Given the description of an element on the screen output the (x, y) to click on. 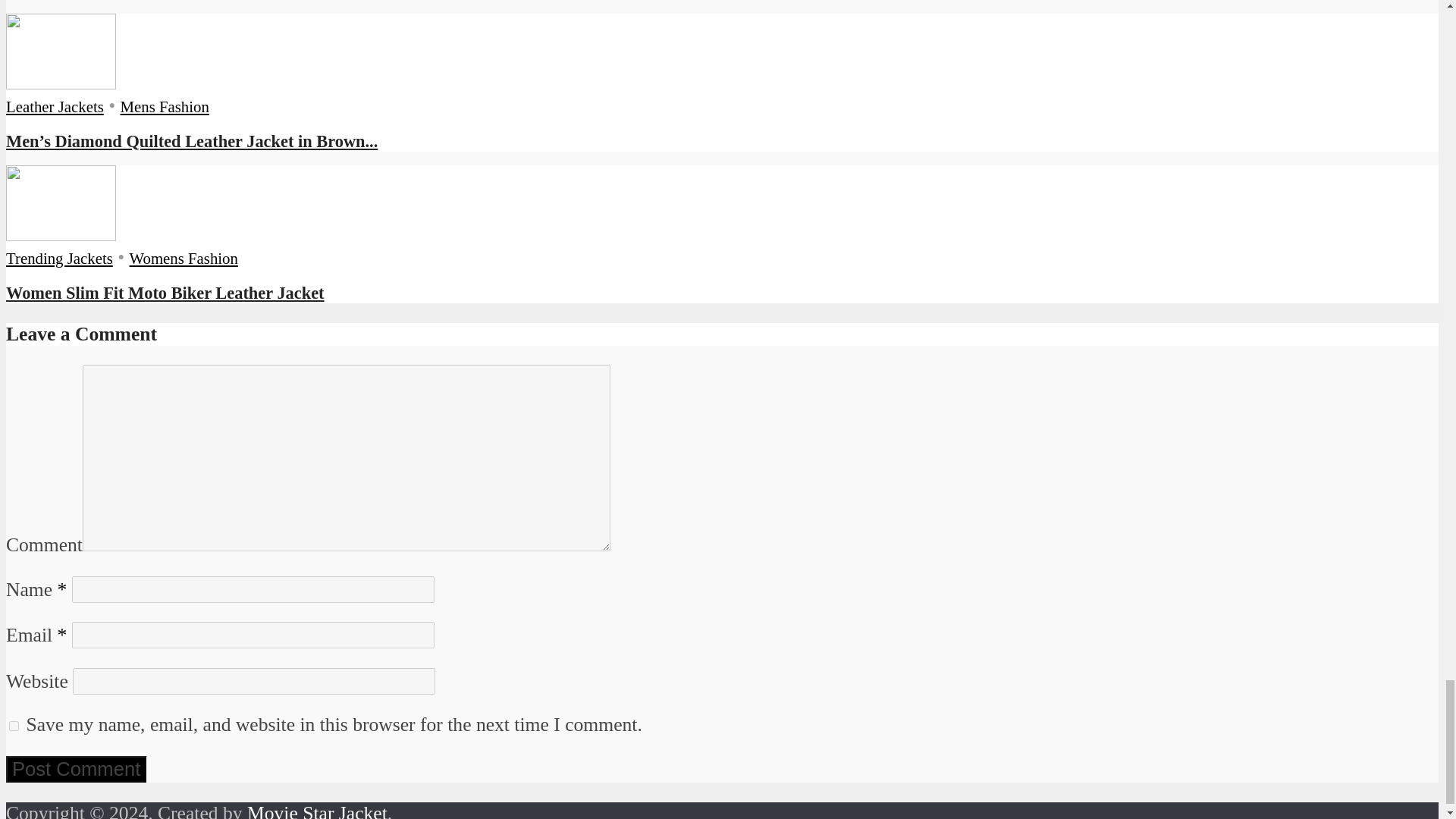
Post Comment (76, 768)
Women Slim Fit Moto Biker Leather Jacket (164, 292)
Women Slim Fit Moto Biker Leather Jacket (60, 234)
yes (13, 726)
